Given the description of an element on the screen output the (x, y) to click on. 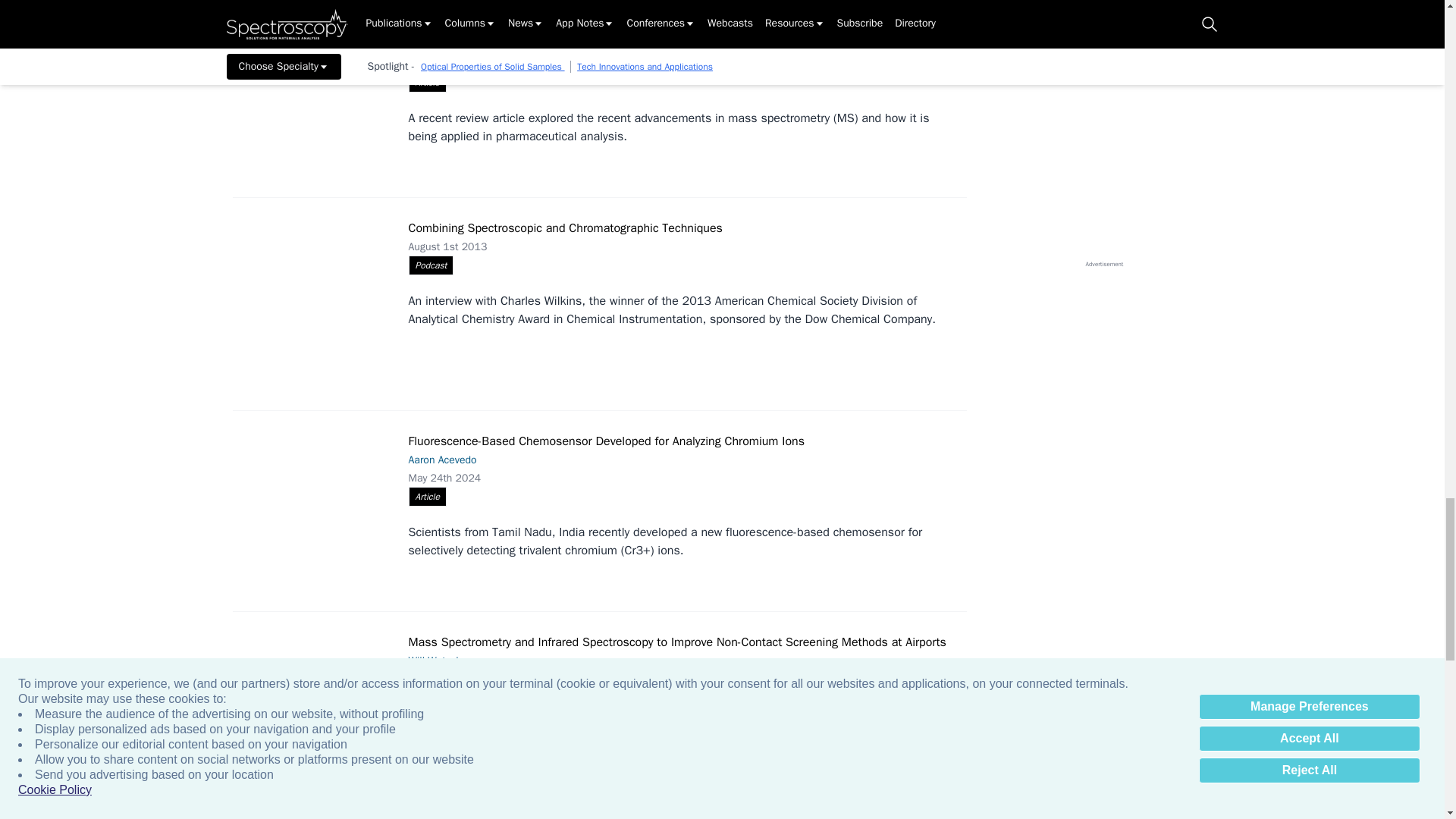
twitter-819466-1408538616786.jpg (317, 298)
